Given the description of an element on the screen output the (x, y) to click on. 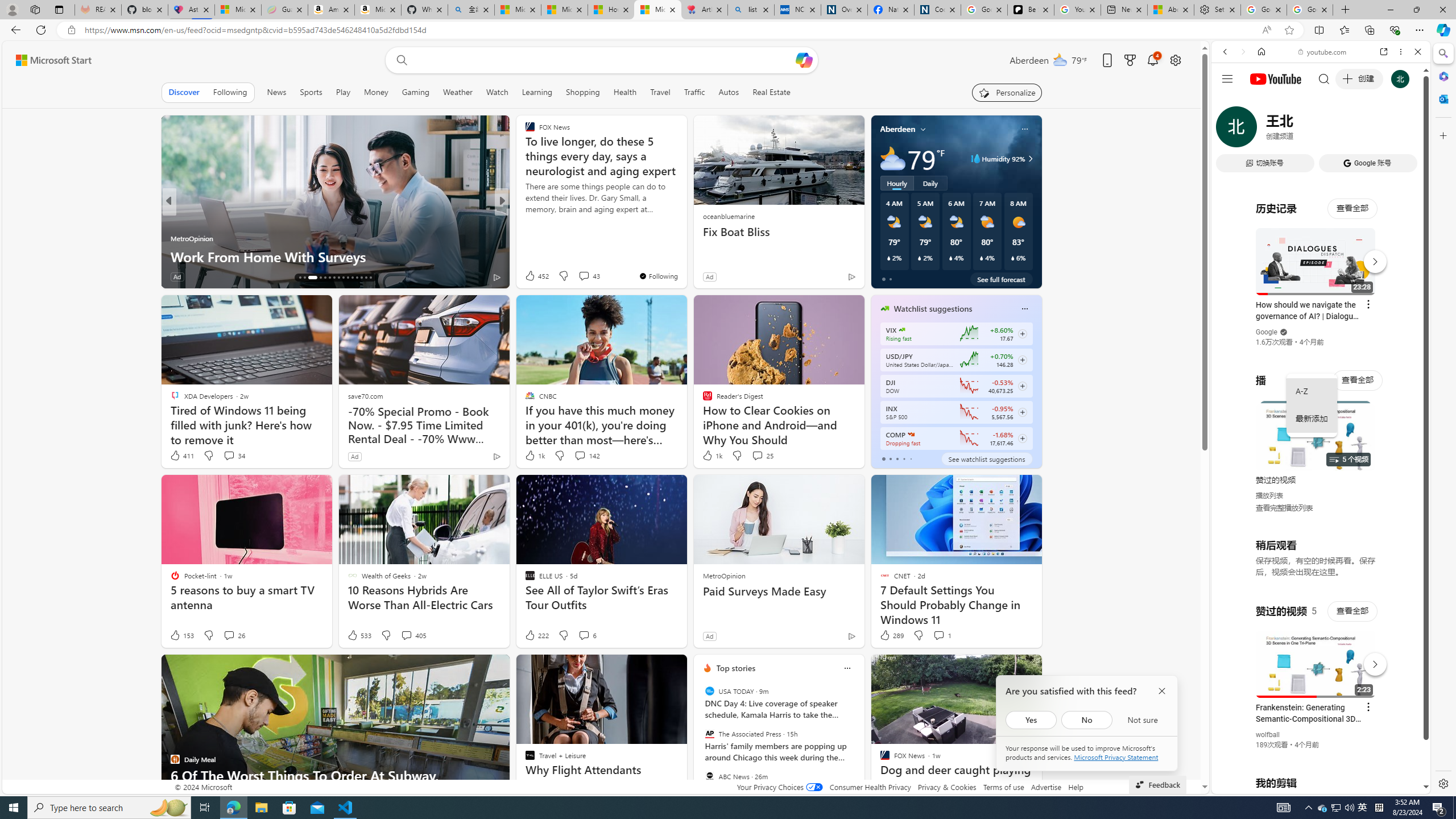
Search Filter, IMAGES (1262, 129)
153 Like (181, 634)
The Associated Press (709, 733)
View comments 58 Comment (576, 276)
Show More Music (1390, 310)
Learning (537, 92)
Start the conversation (577, 276)
Enter your search term (603, 59)
AutomationID: tab-21 (329, 277)
